Given the description of an element on the screen output the (x, y) to click on. 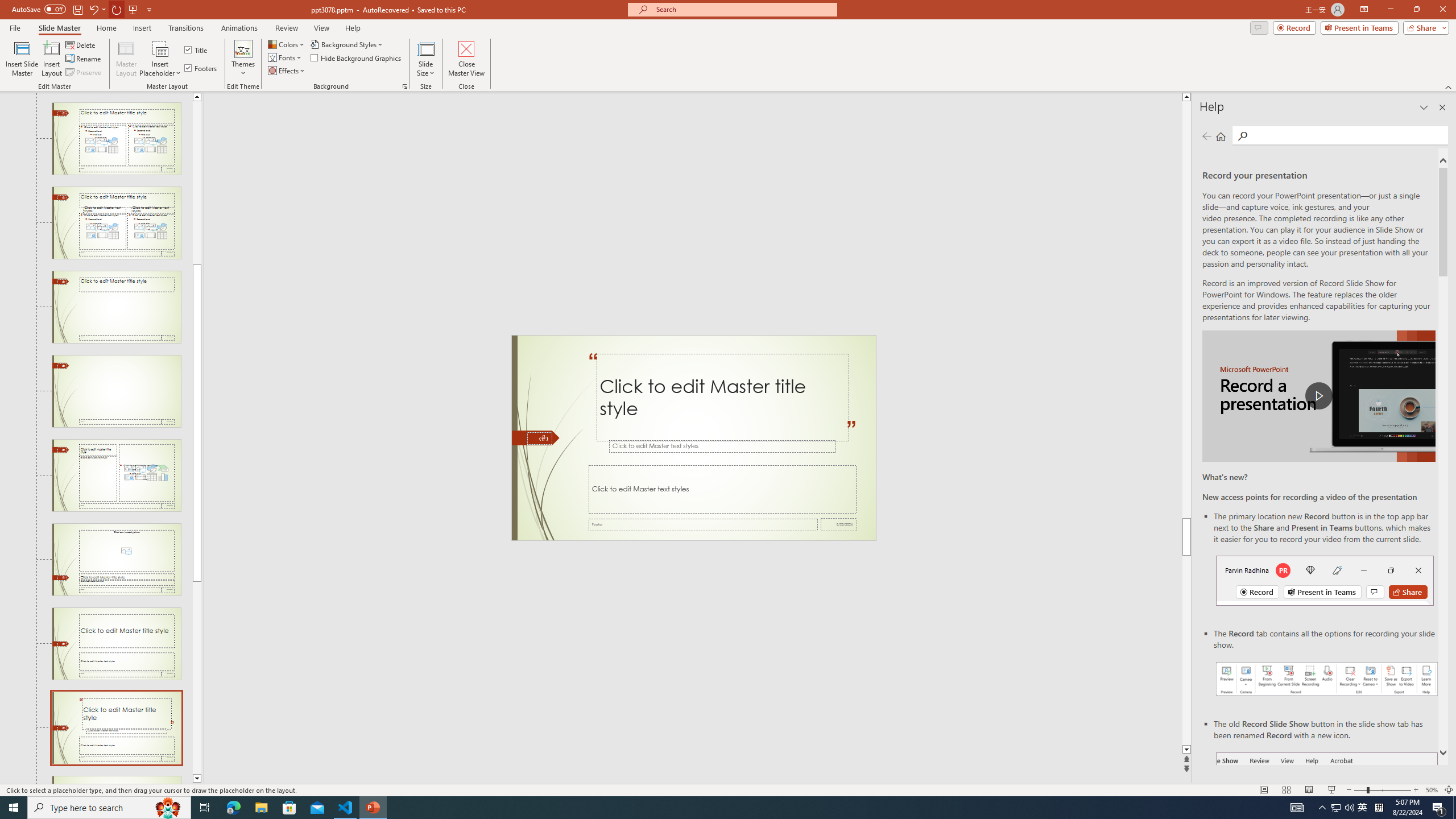
Colors (287, 44)
Slide Master (59, 28)
Rename (84, 58)
Insert Placeholder (160, 58)
Title (196, 49)
Insert Slide Master (21, 58)
